Given the description of an element on the screen output the (x, y) to click on. 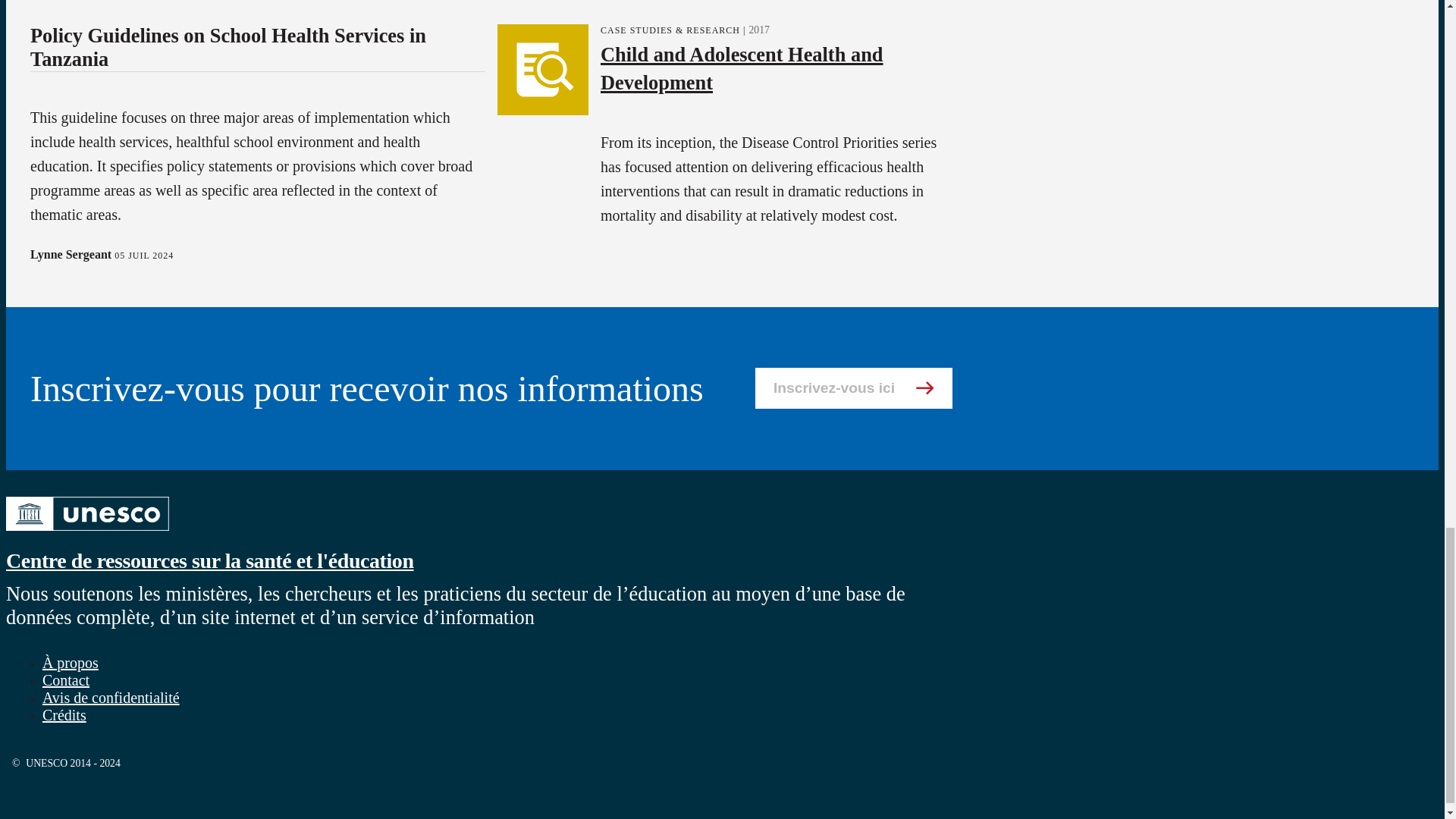
Home (209, 560)
Child and Adolescent Health and Development (740, 67)
Home (86, 532)
Contact (65, 679)
